Given the description of an element on the screen output the (x, y) to click on. 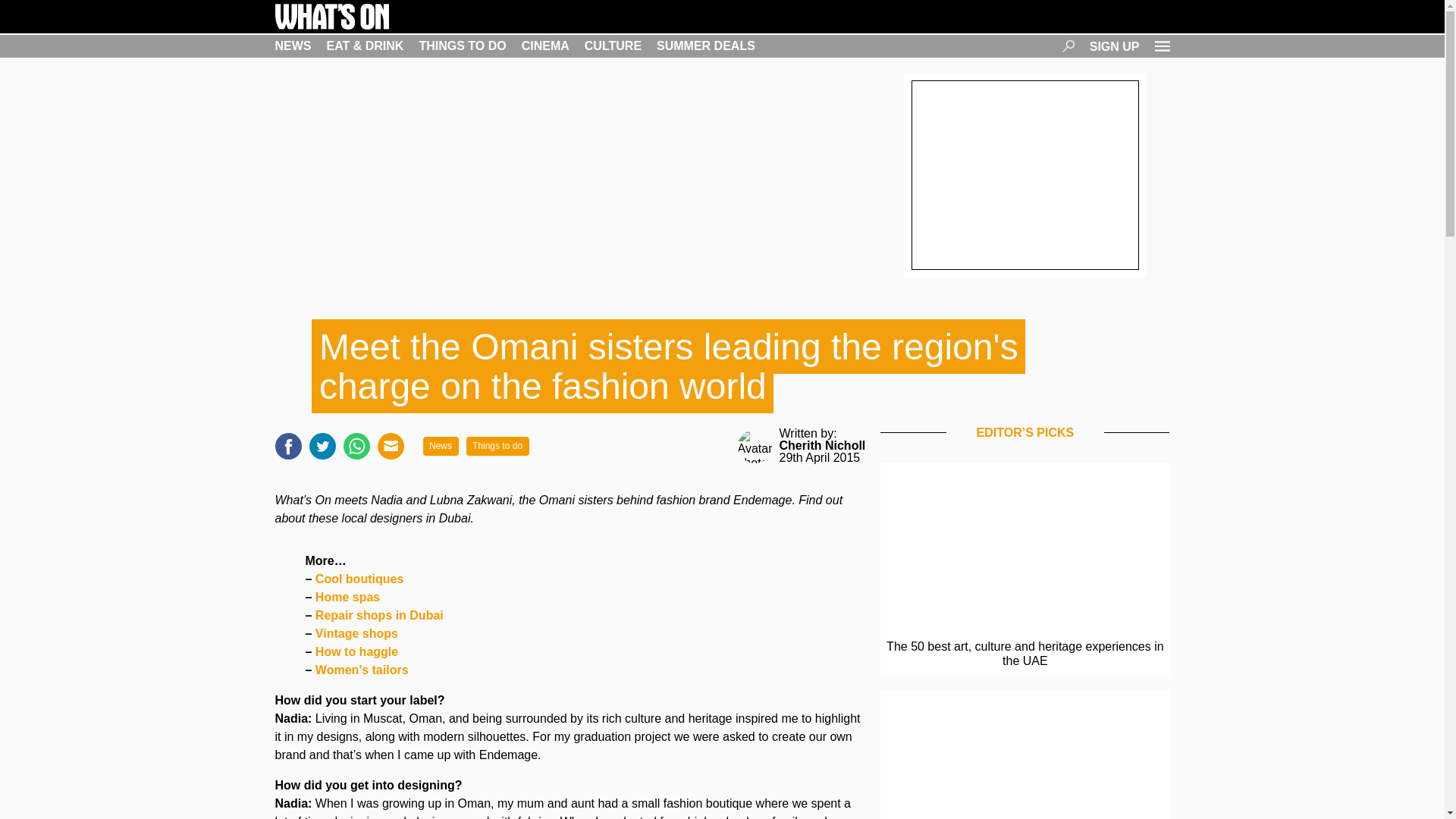
CINEMA (545, 45)
THINGS TO DO (462, 45)
SIGN UP (1114, 45)
SUMMER DEALS (705, 45)
CULTURE (613, 45)
NEWS (293, 45)
